Given the description of an element on the screen output the (x, y) to click on. 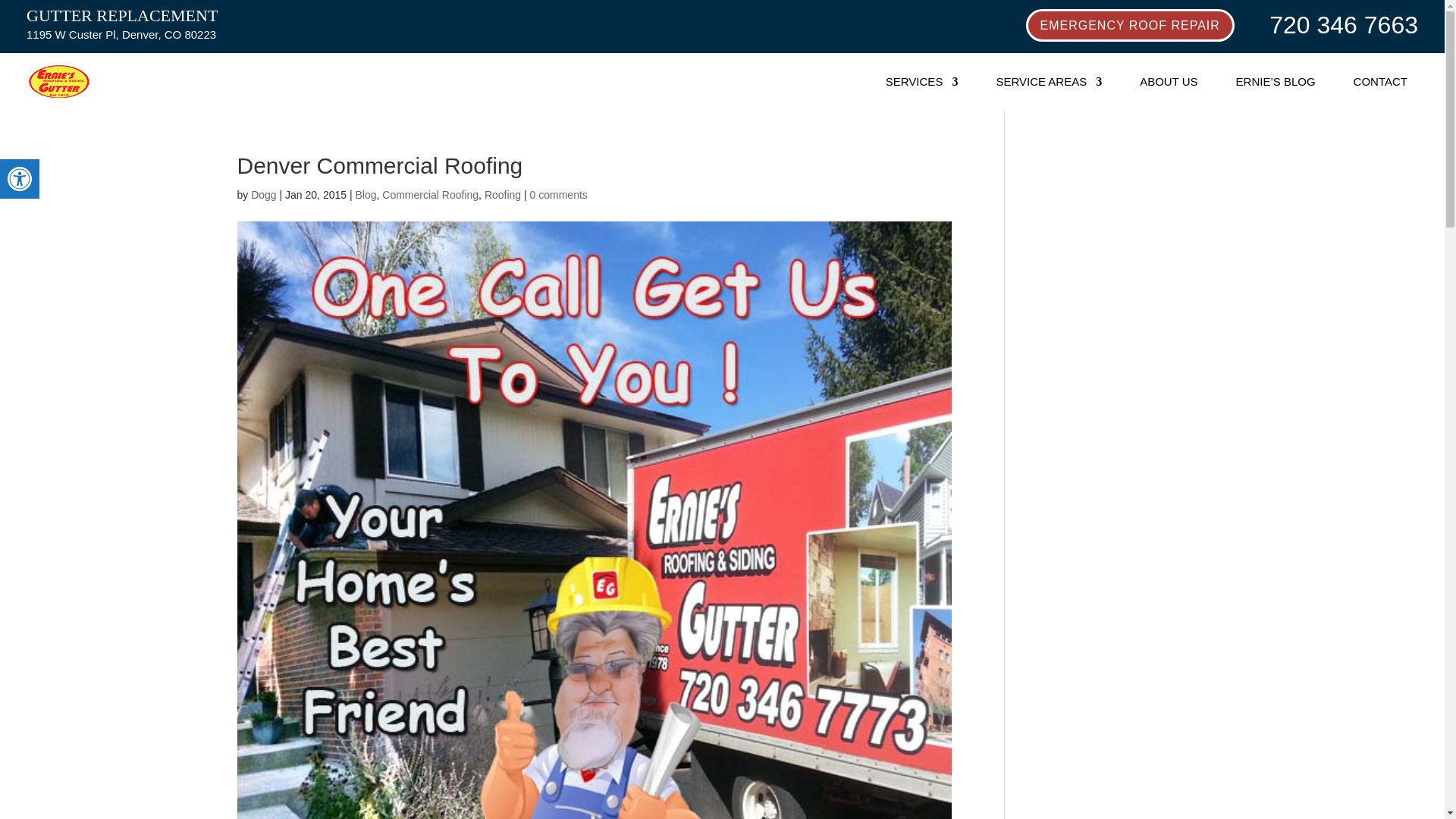
SERVICES (921, 81)
Roofing (502, 194)
Blog (365, 194)
Services (921, 81)
Dogg (263, 194)
Accessibility Tools (19, 178)
Posts by Dogg (263, 194)
ABOUT US (1168, 81)
EMERGENCY ROOF REPAIR (1130, 25)
Accessibility Tools (19, 178)
